Given the description of an element on the screen output the (x, y) to click on. 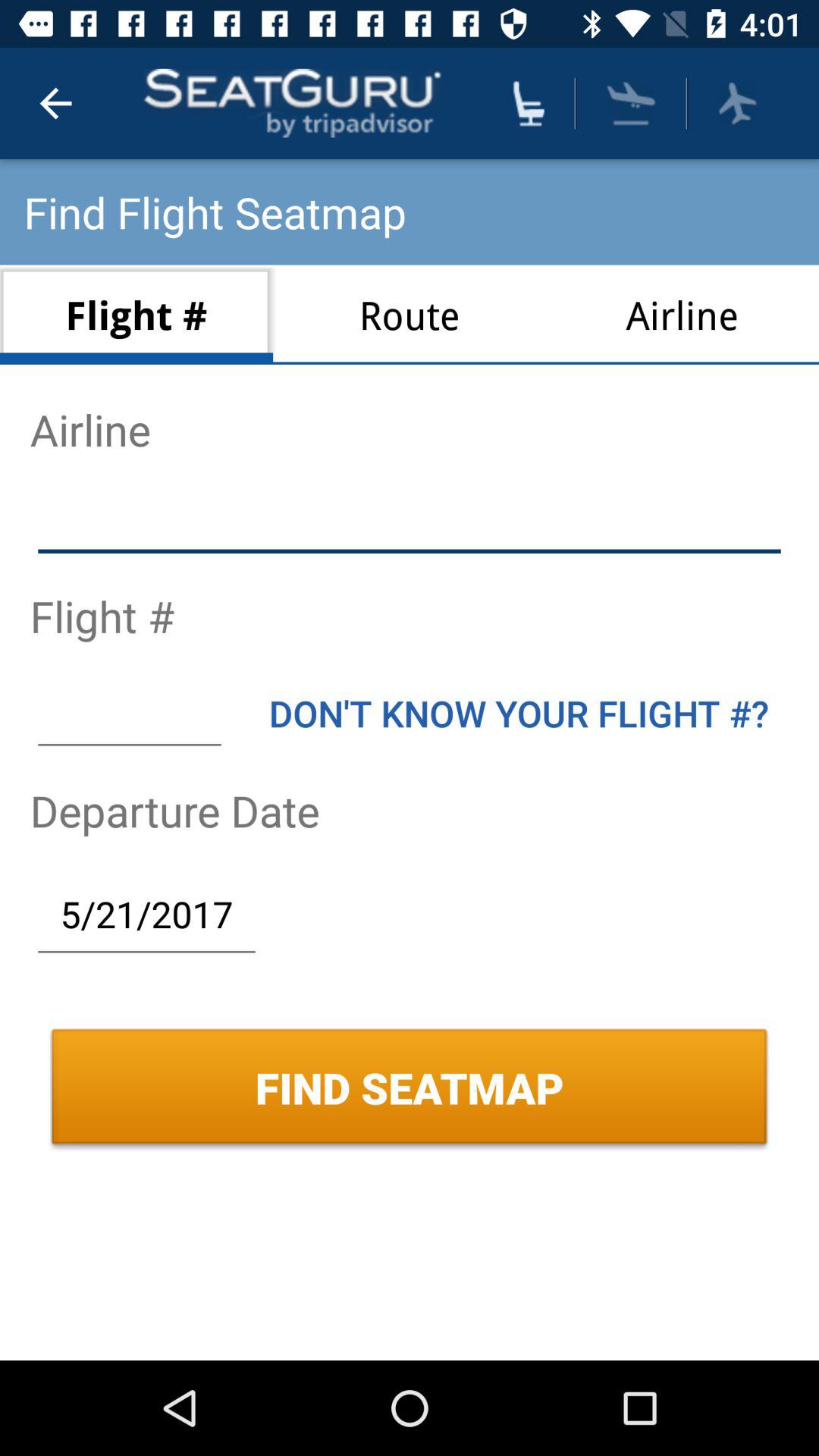
blank text box (129, 712)
